Given the description of an element on the screen output the (x, y) to click on. 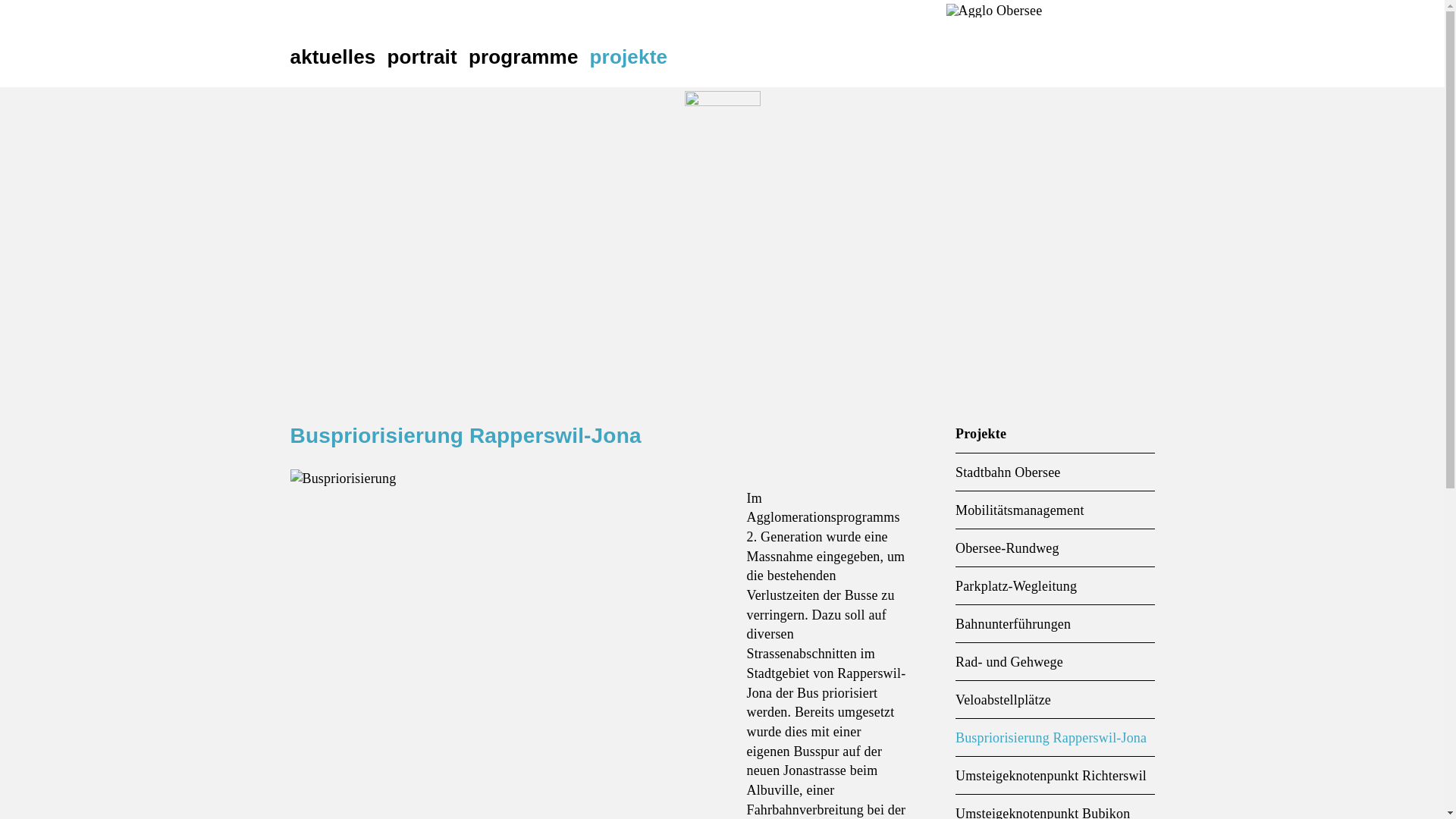
projekte Element type: text (634, 56)
programme Element type: text (528, 56)
Parkplatz-Wegleitung Element type: text (1054, 586)
Buspriorisierung Rapperswil-Jona Element type: text (1054, 738)
portrait Element type: text (426, 56)
Obersee-Rundweg Element type: text (1054, 548)
Umsteigeknotenpunkt Richterswil Element type: text (1054, 776)
Agglo Obersee Element type: hover (995, 9)
aktuelles Element type: text (337, 56)
Rad- und Gehwege Element type: text (1054, 662)
Stadtbahn Obersee Element type: text (1054, 473)
